Given the description of an element on the screen output the (x, y) to click on. 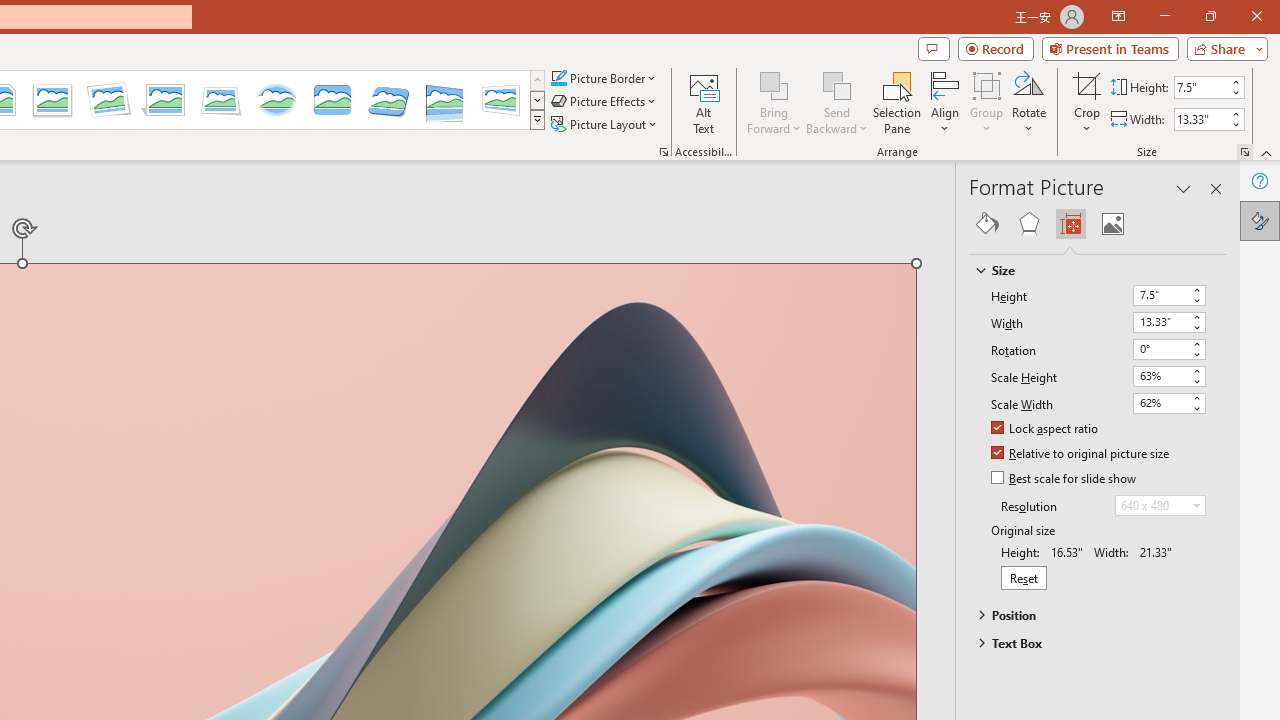
Align (945, 102)
Shape Height (1201, 87)
Fill & Line (987, 223)
Scale Width (1168, 403)
Restore Down (1210, 16)
Group (987, 102)
Picture Border Blue, Accent 1 (558, 78)
Size (1088, 269)
Bring Forward (773, 102)
Share (1223, 48)
Best scale for slide show (1065, 479)
Alt Text (703, 102)
Bevel Rectangle (332, 100)
Collapse the Ribbon (1267, 152)
Crop (1087, 102)
